Given the description of an element on the screen output the (x, y) to click on. 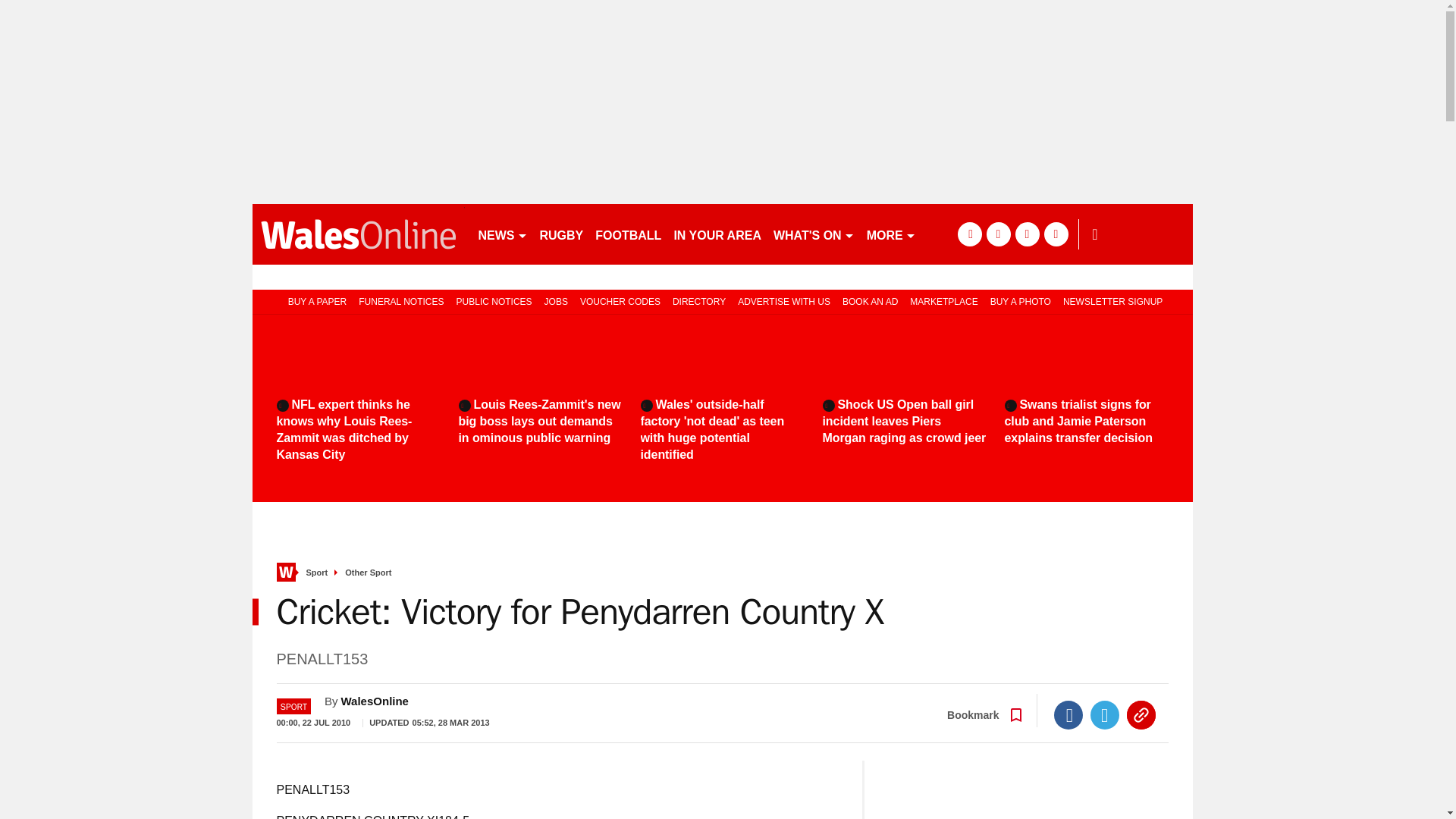
WHAT'S ON (813, 233)
MORE (890, 233)
instagram (1055, 233)
RUGBY (561, 233)
twitter (997, 233)
walesonline (357, 233)
IN YOUR AREA (716, 233)
facebook (968, 233)
pinterest (1026, 233)
Twitter (1104, 715)
